Given the description of an element on the screen output the (x, y) to click on. 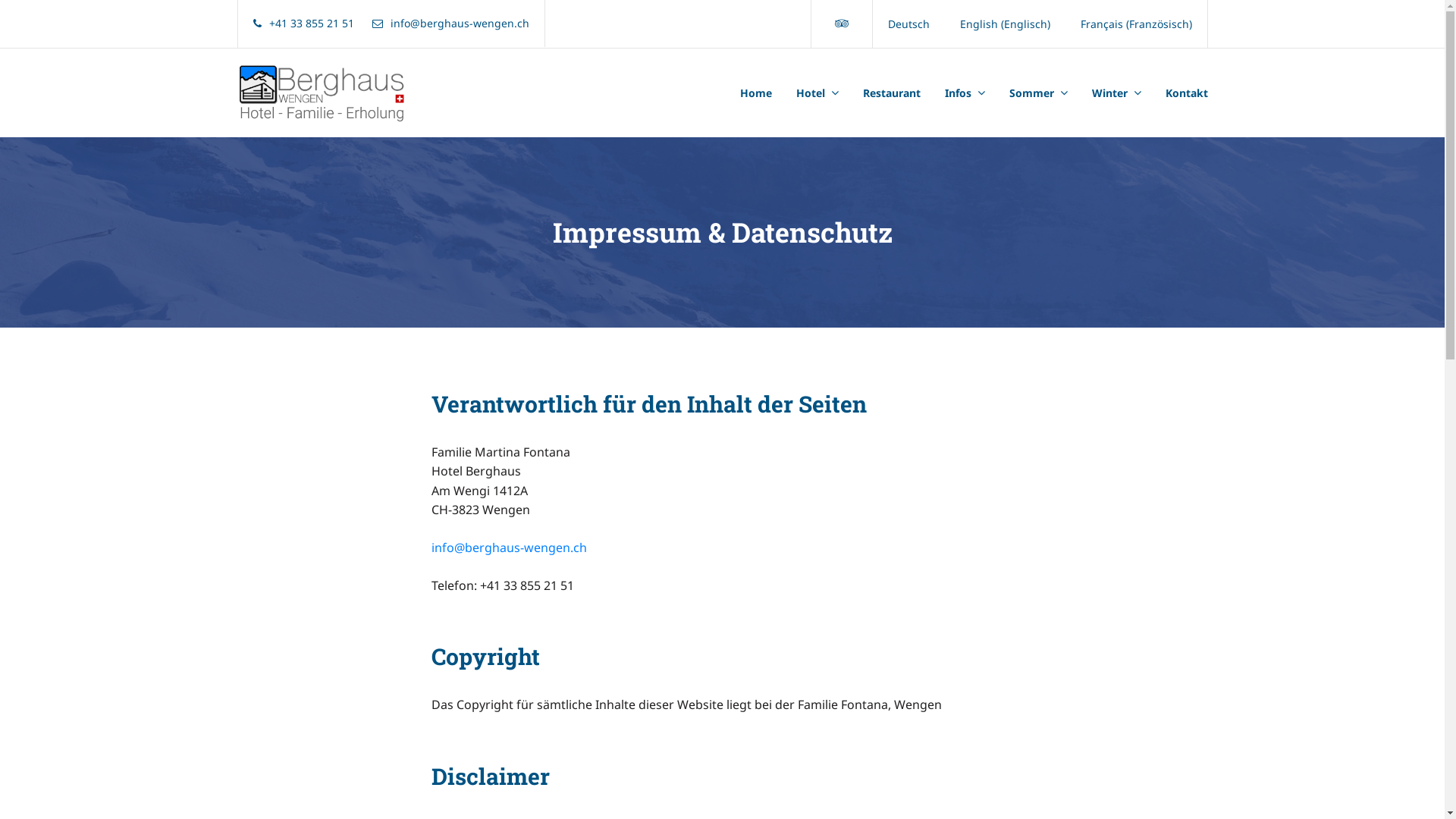
info@berghaus-wengen.ch Element type: text (449, 23)
Infos Element type: text (964, 93)
Kontakt Element type: text (1179, 93)
+41 33 855 21 51 Element type: text (303, 23)
Deutsch Element type: text (908, 23)
Winter Element type: text (1116, 93)
Home Element type: text (762, 93)
Tripadvisor Element type: text (841, 23)
Berghaus Wengen Element type: text (316, 92)
info@berghaus-wengen.ch Element type: text (508, 547)
Hotel Element type: text (817, 93)
Restaurant Element type: text (891, 93)
English (Englisch) Element type: text (1004, 23)
Sommer Element type: text (1037, 93)
